Given the description of an element on the screen output the (x, y) to click on. 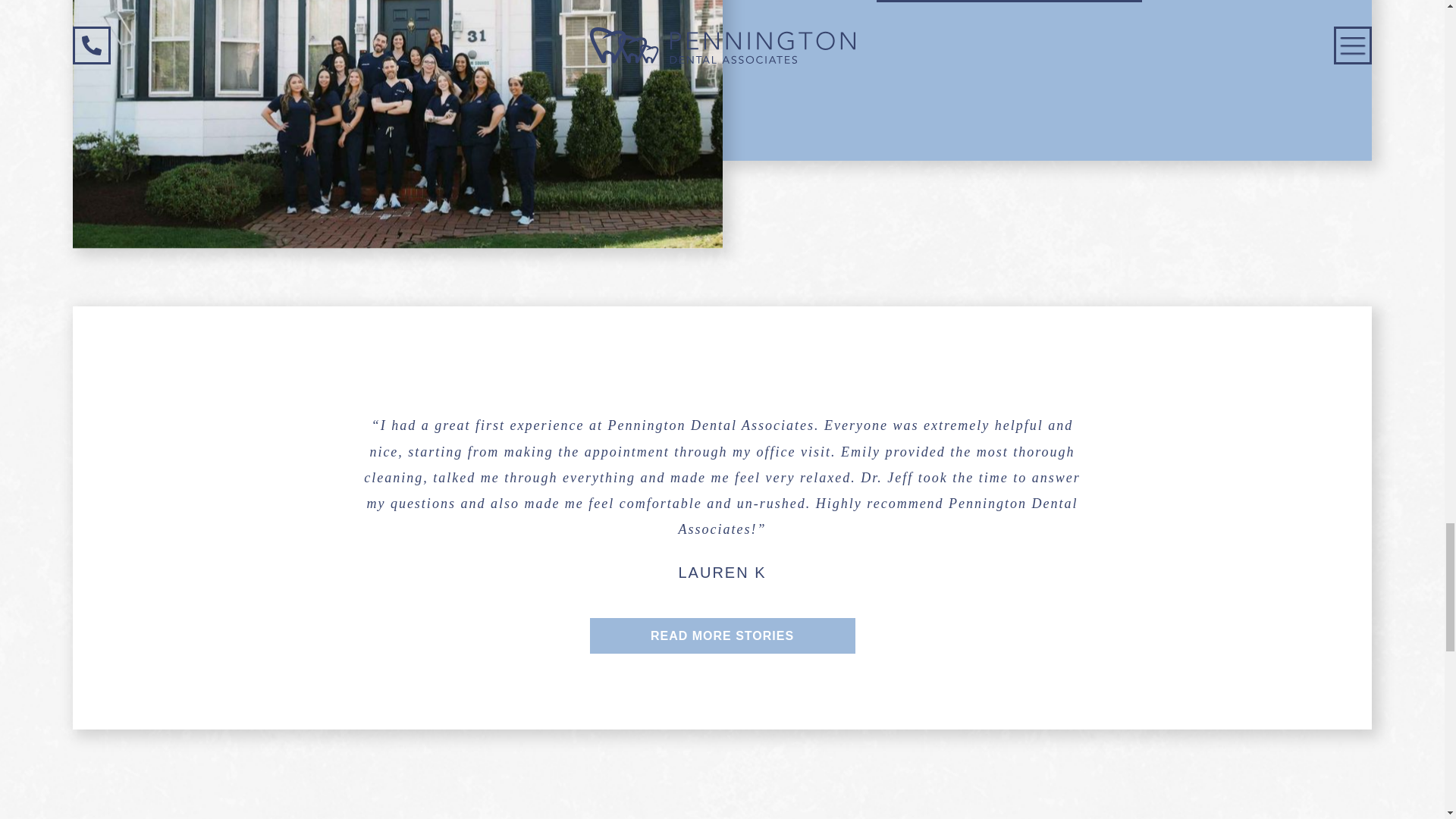
READ MORE STORIES (722, 635)
